Given the description of an element on the screen output the (x, y) to click on. 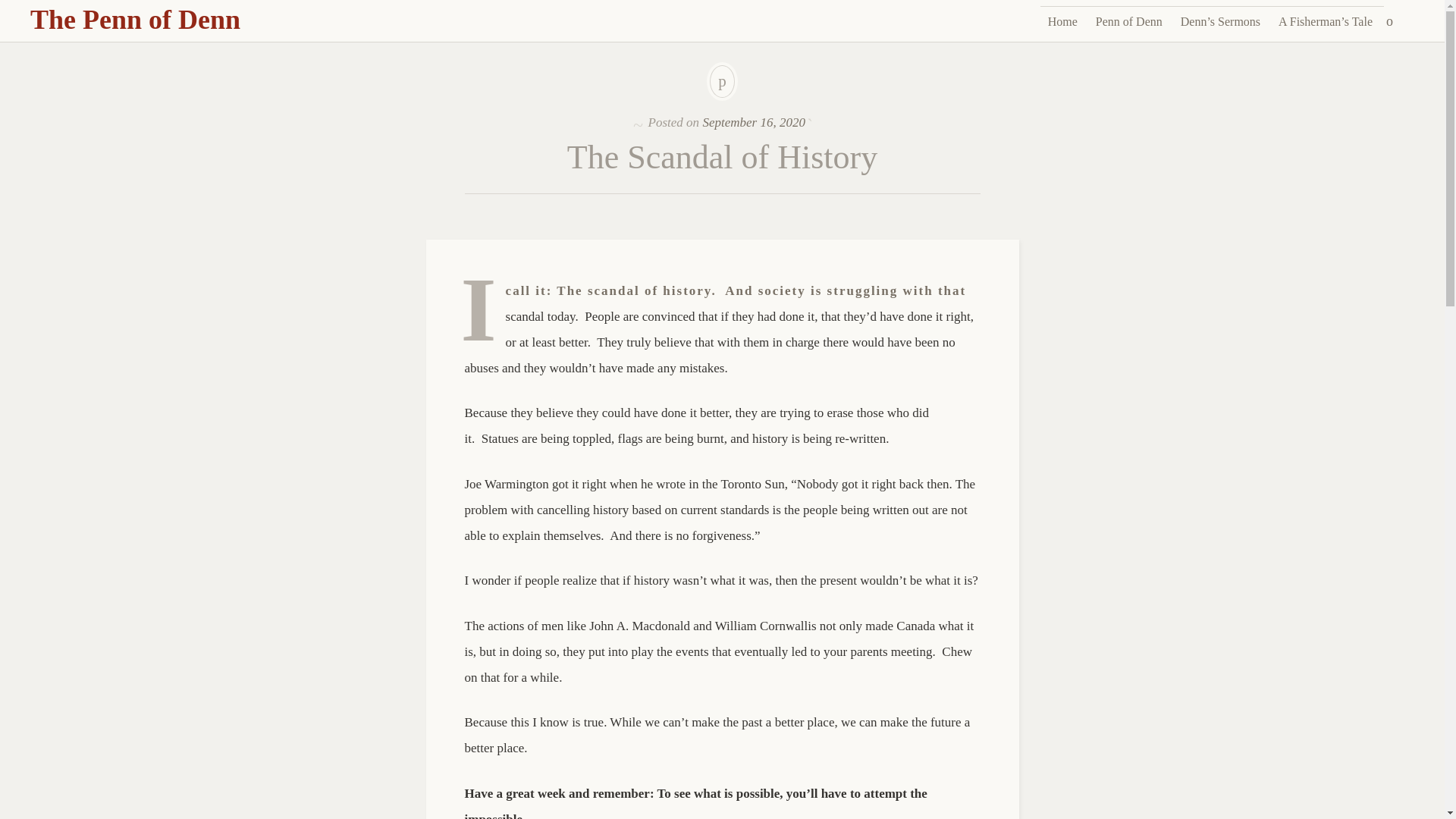
The Penn of Denn (135, 19)
Home (1062, 22)
Search (11, 9)
Penn of Denn (1128, 22)
September 16, 2020 (753, 122)
The Penn of Denn (135, 19)
